Given the description of an element on the screen output the (x, y) to click on. 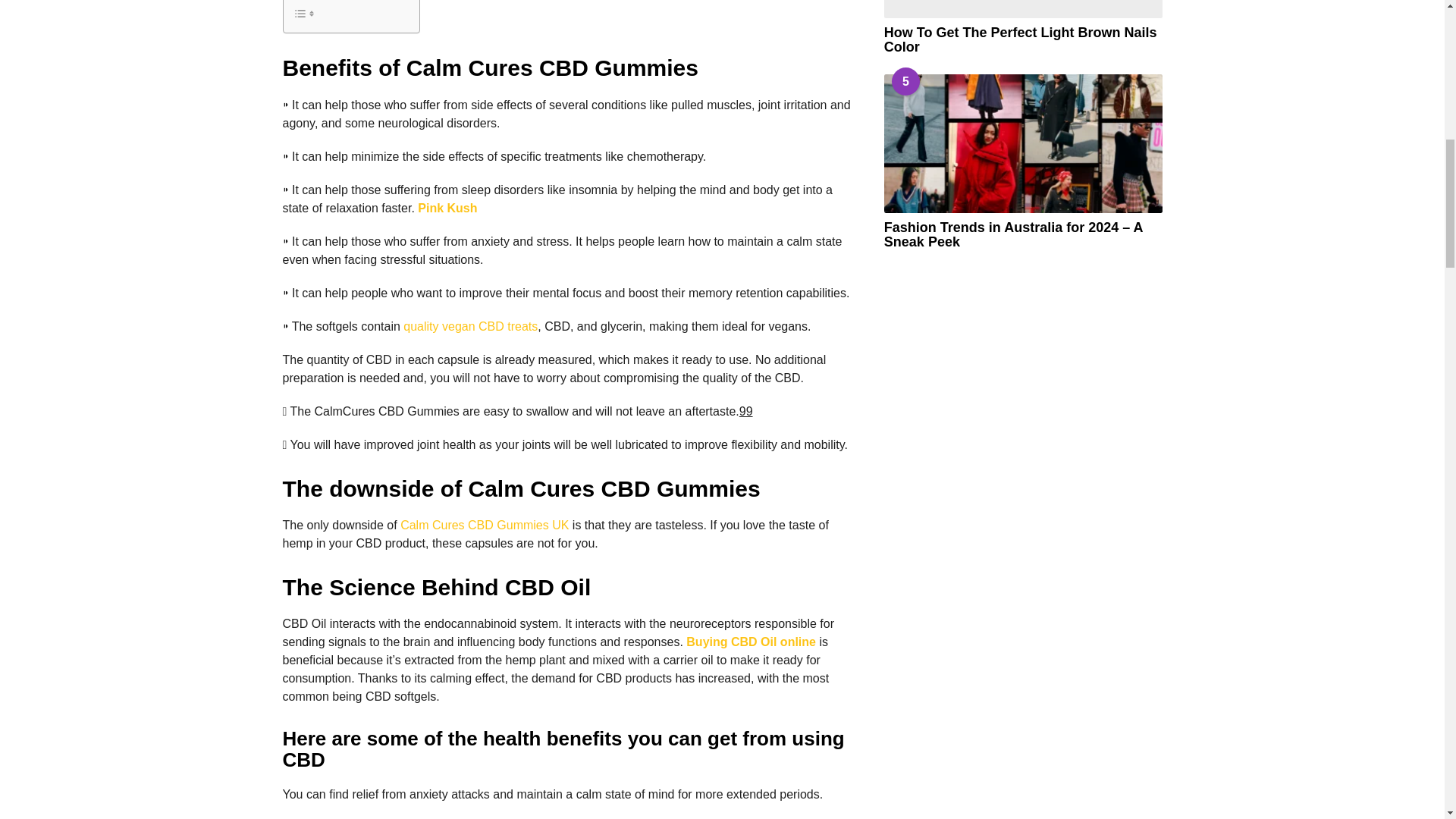
quality vegan CBD treats (470, 326)
Calm Cures CBD Gummies UK (484, 524)
Buying CBD Oil online (750, 641)
Pink Kush (447, 207)
